Given the description of an element on the screen output the (x, y) to click on. 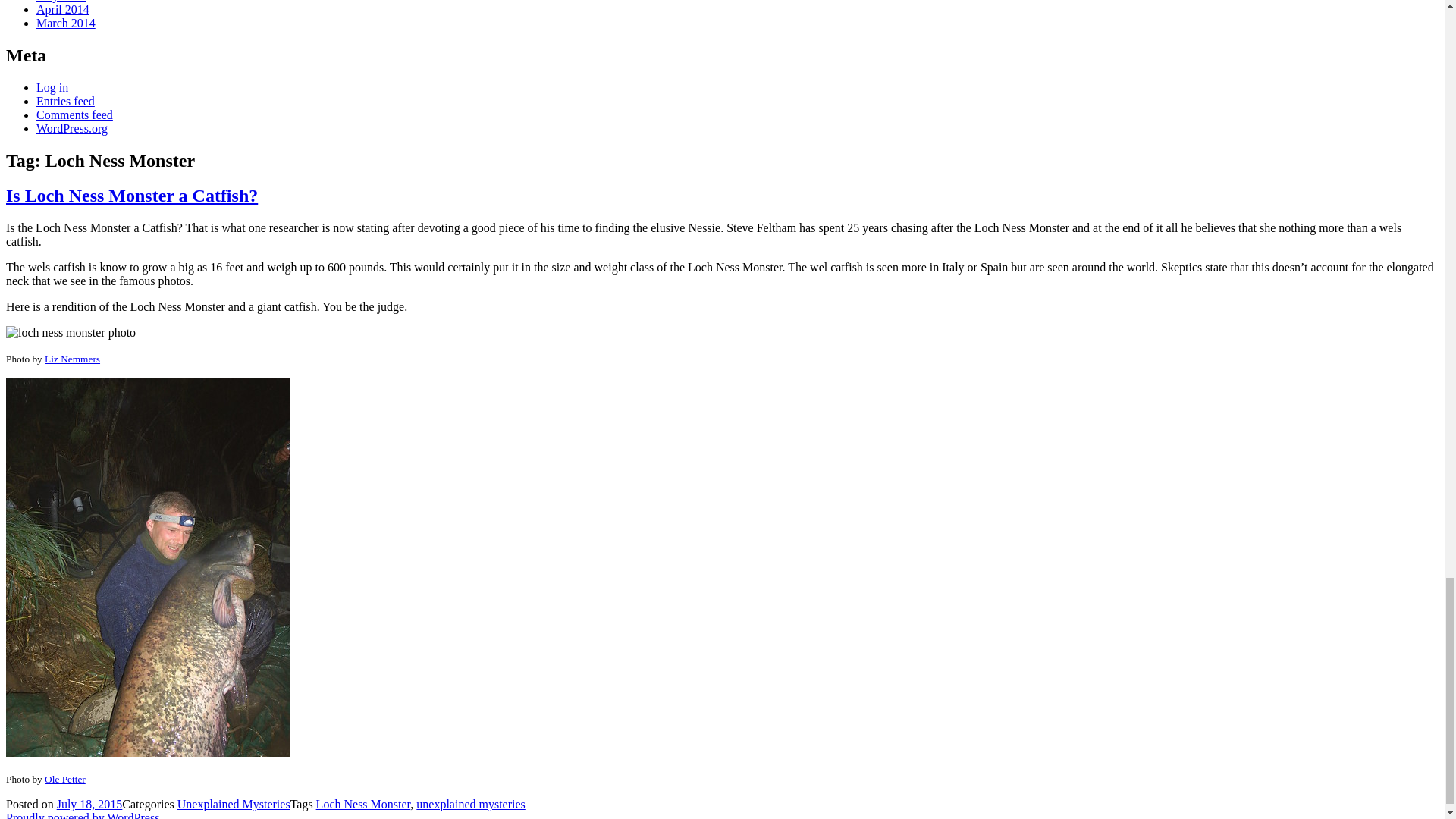
I found the Loch Ness Monster!! by Liz Nemmers (70, 332)
Huge catfish by Ole Petter (147, 566)
